Given the description of an element on the screen output the (x, y) to click on. 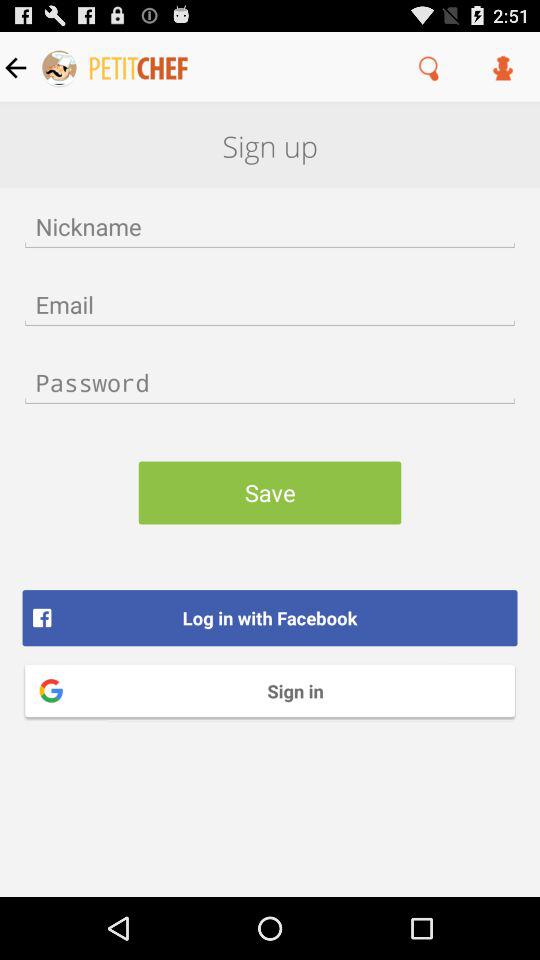
click the log in with (269, 617)
